Given the description of an element on the screen output the (x, y) to click on. 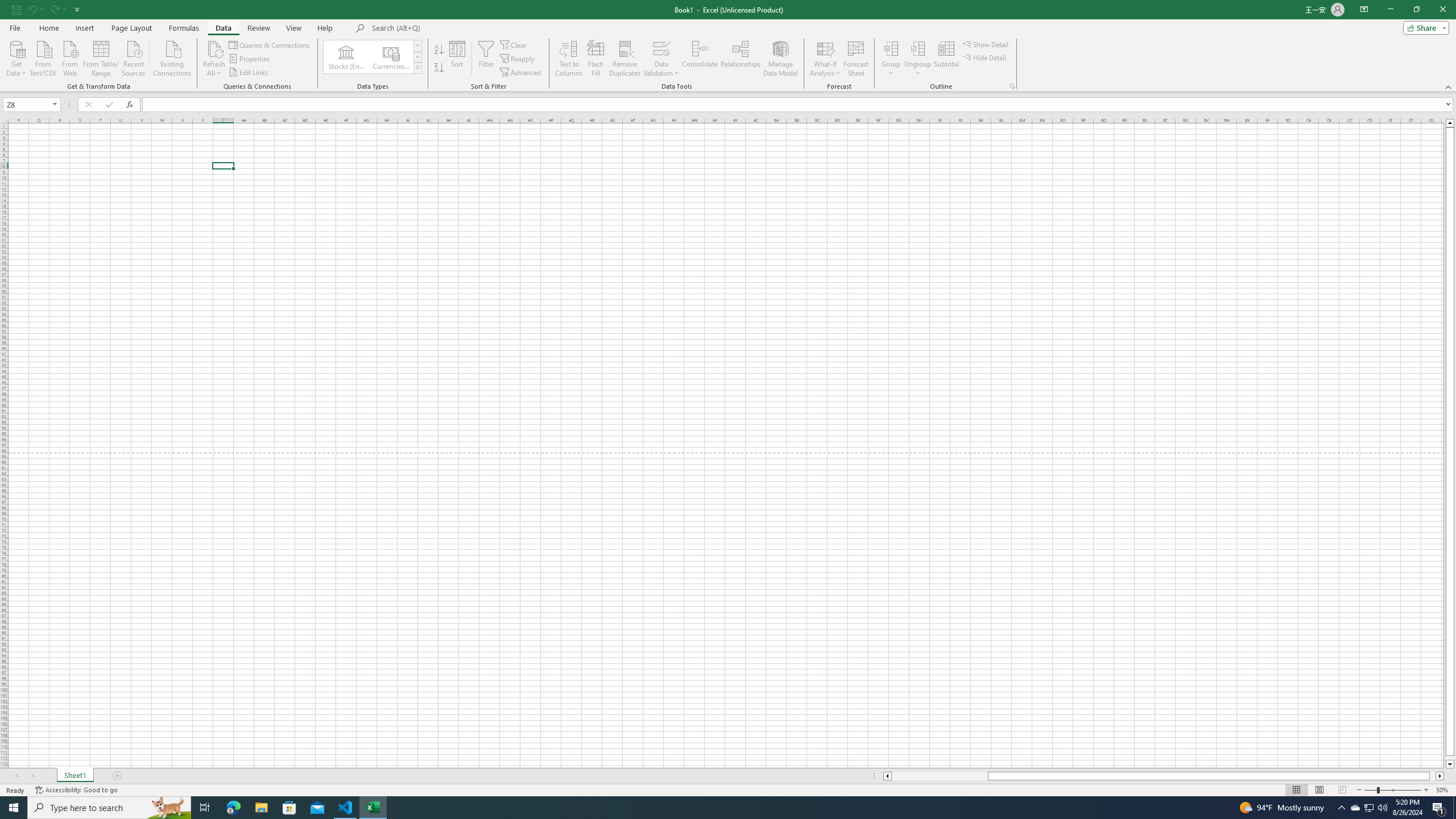
Get Data (16, 57)
Properties (250, 58)
Reapply (517, 58)
Consolidate... (700, 58)
Data Validation... (661, 48)
Filter (485, 58)
Restore Down (1416, 9)
Hide Detail (985, 56)
Home (48, 28)
Manage Data Model (780, 58)
Class: NetUIScrollBar (1163, 775)
Formulas (184, 28)
Page Break Preview (1342, 790)
Ungroup... (917, 48)
